Given the description of an element on the screen output the (x, y) to click on. 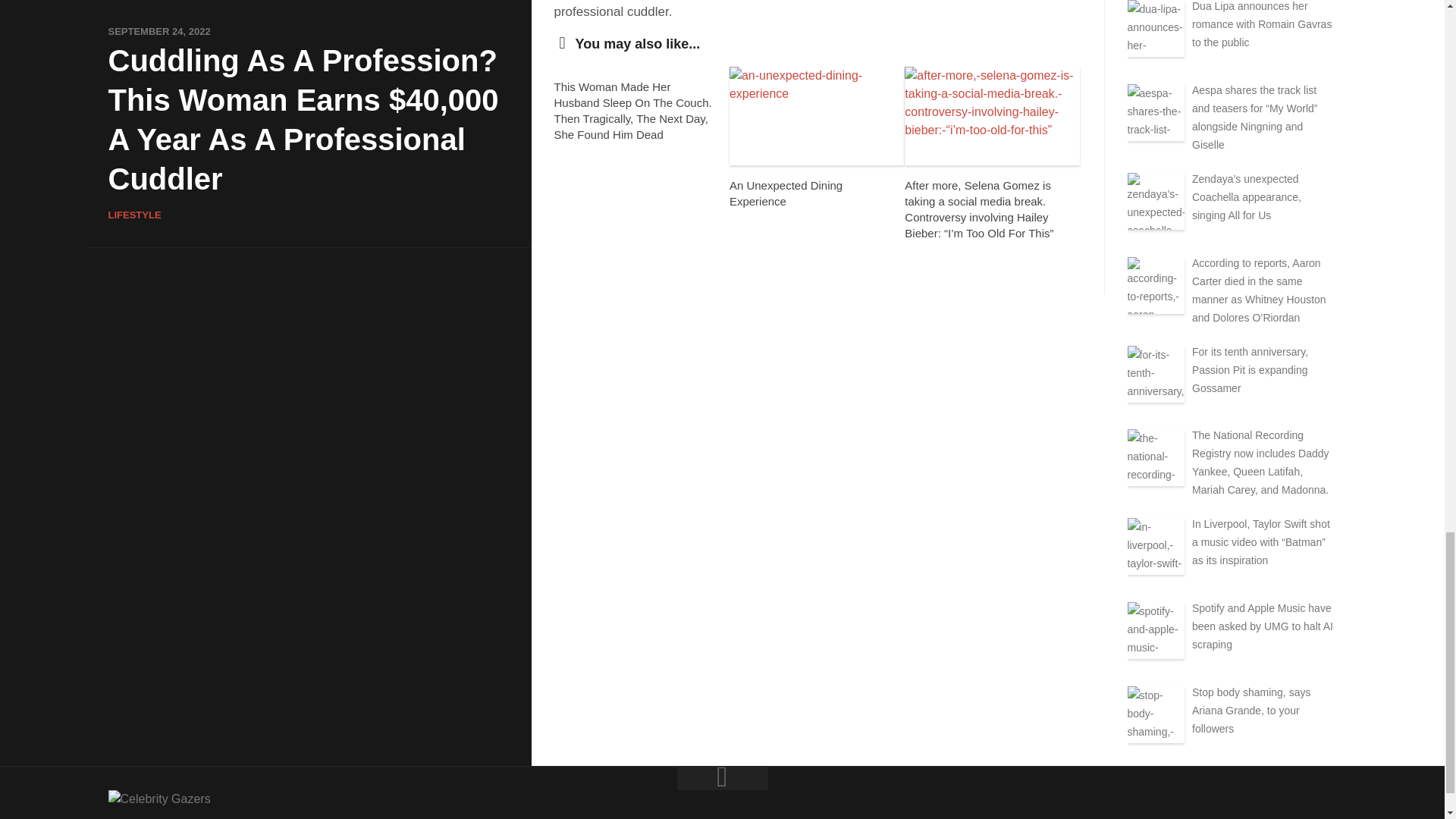
An Unexpected Dining Experience (786, 193)
